Given the description of an element on the screen output the (x, y) to click on. 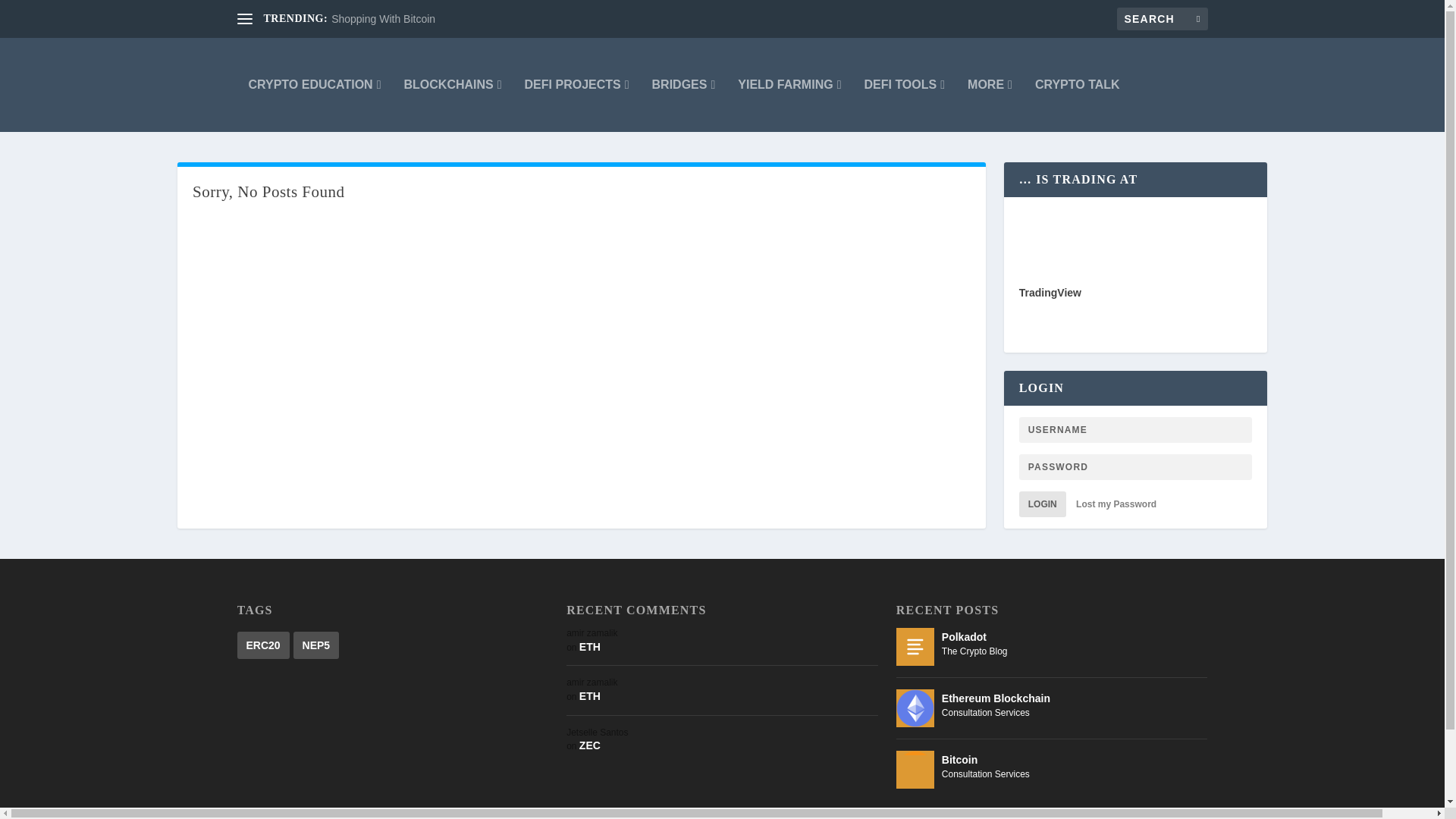
Bitcoin (915, 769)
BLOCKCHAINS (451, 84)
Shopping With Bitcoin (383, 19)
DEFI PROJECTS (576, 84)
Search for: (1161, 18)
Ethereum Blockchain (915, 708)
Polkadot (915, 646)
CRYPTO EDUCATION (314, 84)
